Given the description of an element on the screen output the (x, y) to click on. 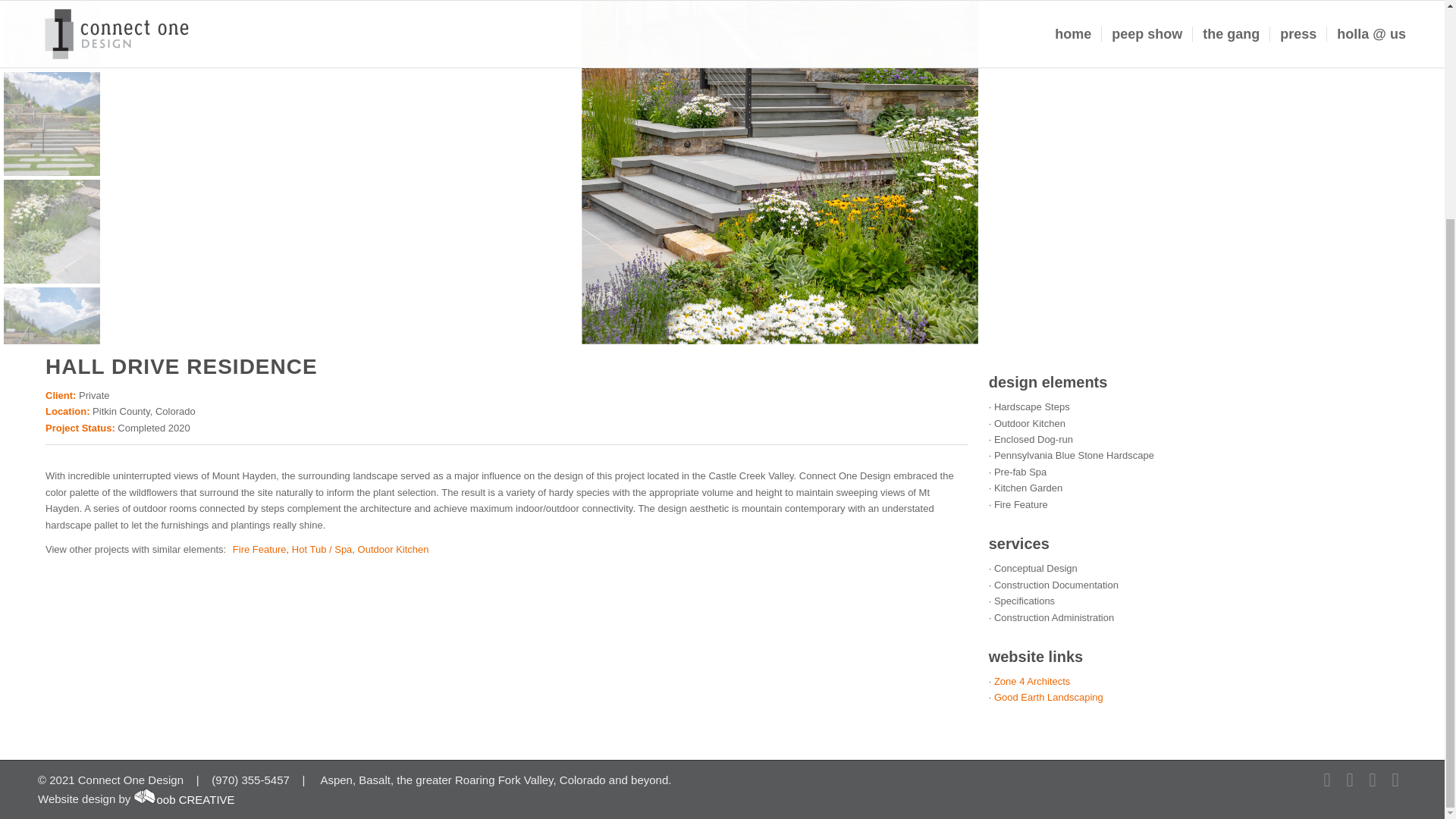
oob CREATIVE (183, 799)
Zone 4 Architects (1032, 681)
Fire Feature (259, 549)
Good Earth Landscaping (1048, 696)
Outdoor Kitchen (393, 549)
